Given the description of an element on the screen output the (x, y) to click on. 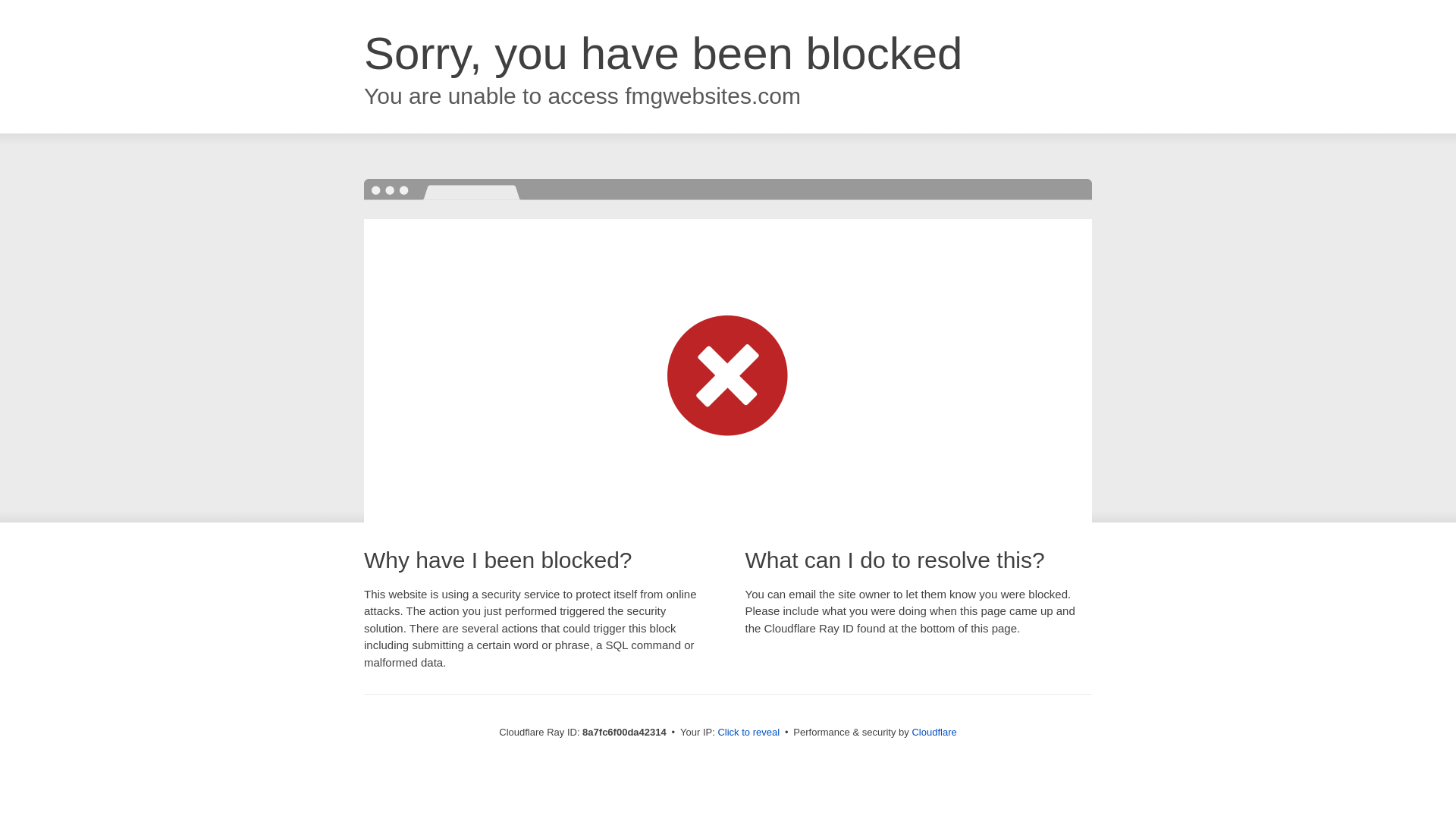
Cloudflare (933, 731)
Click to reveal (747, 732)
